Given the description of an element on the screen output the (x, y) to click on. 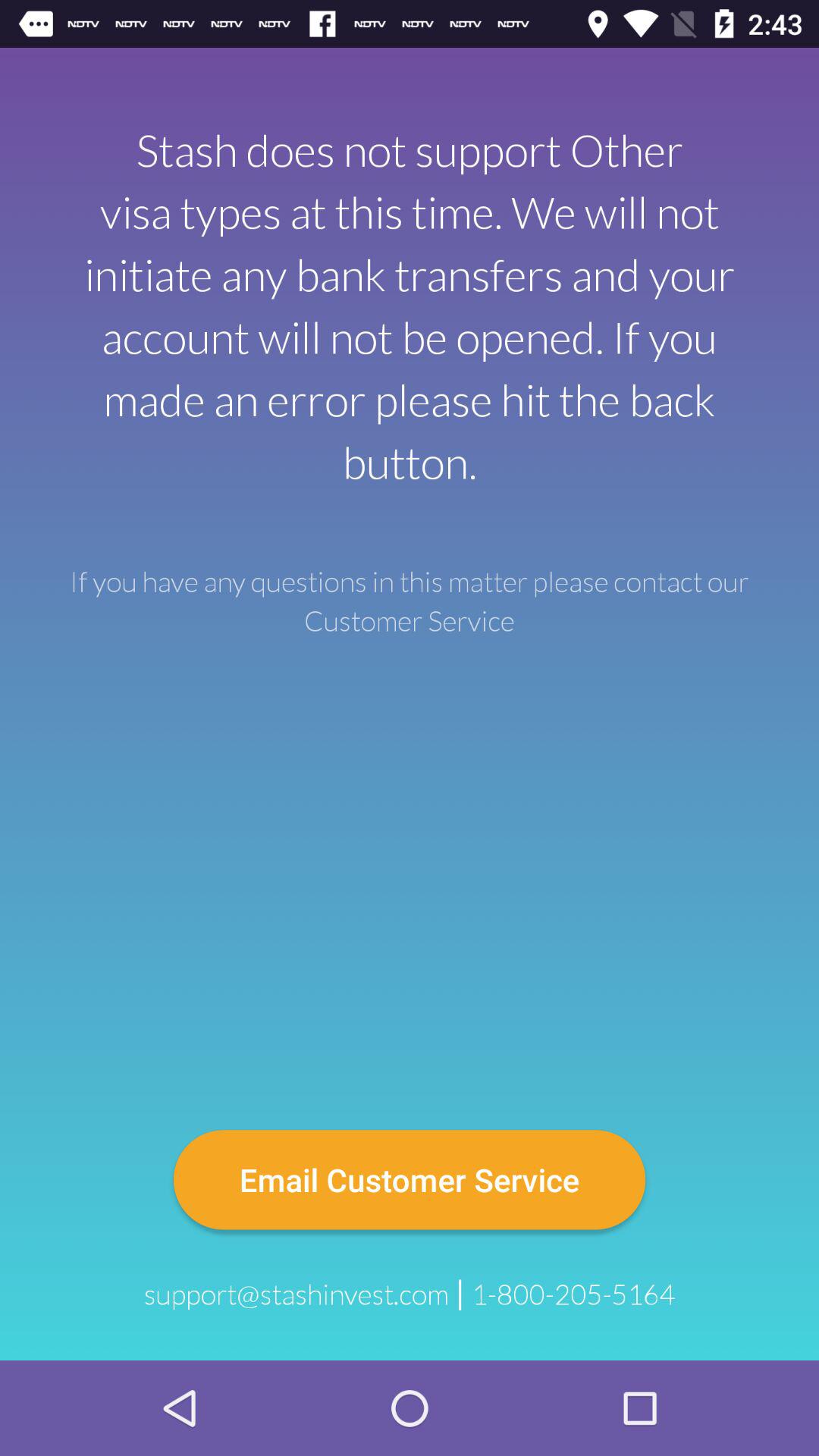
scroll to support@stashinvest.com icon (295, 1294)
